Given the description of an element on the screen output the (x, y) to click on. 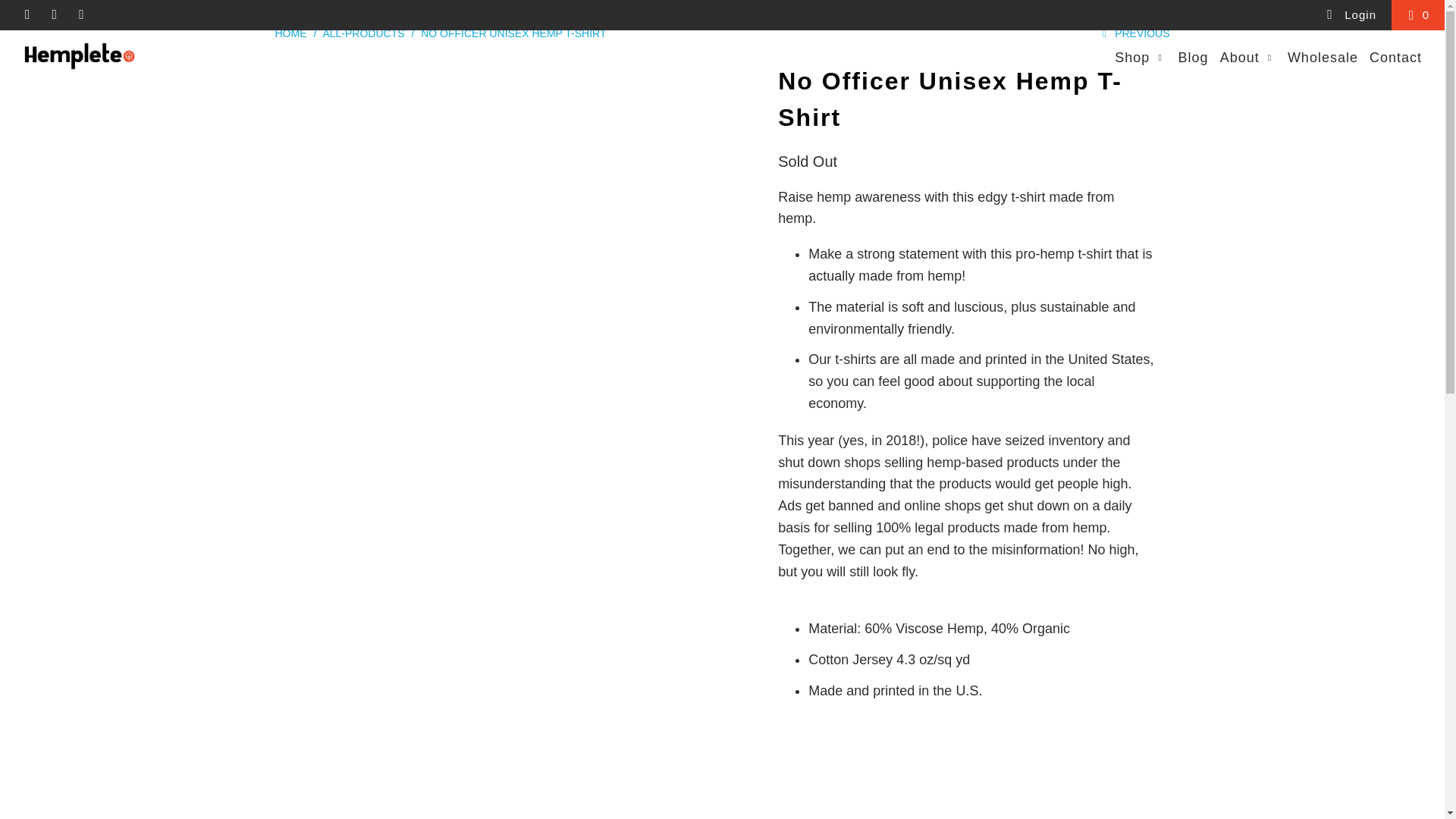
Previous (1133, 33)
Hemplete on Facebook (26, 14)
ALL-PRODUCTS (362, 33)
Hemplete (290, 33)
Wholesale (1322, 57)
Hemplete (122, 53)
Email Hemplete (80, 14)
Blog (1192, 57)
My Account  (1350, 15)
Shop (1140, 57)
Hemplete on Instagram (54, 14)
Login (1350, 15)
Contact (1396, 57)
NO OFFICER UNISEX HEMP T-SHIRT (512, 33)
HOME (290, 33)
